Given the description of an element on the screen output the (x, y) to click on. 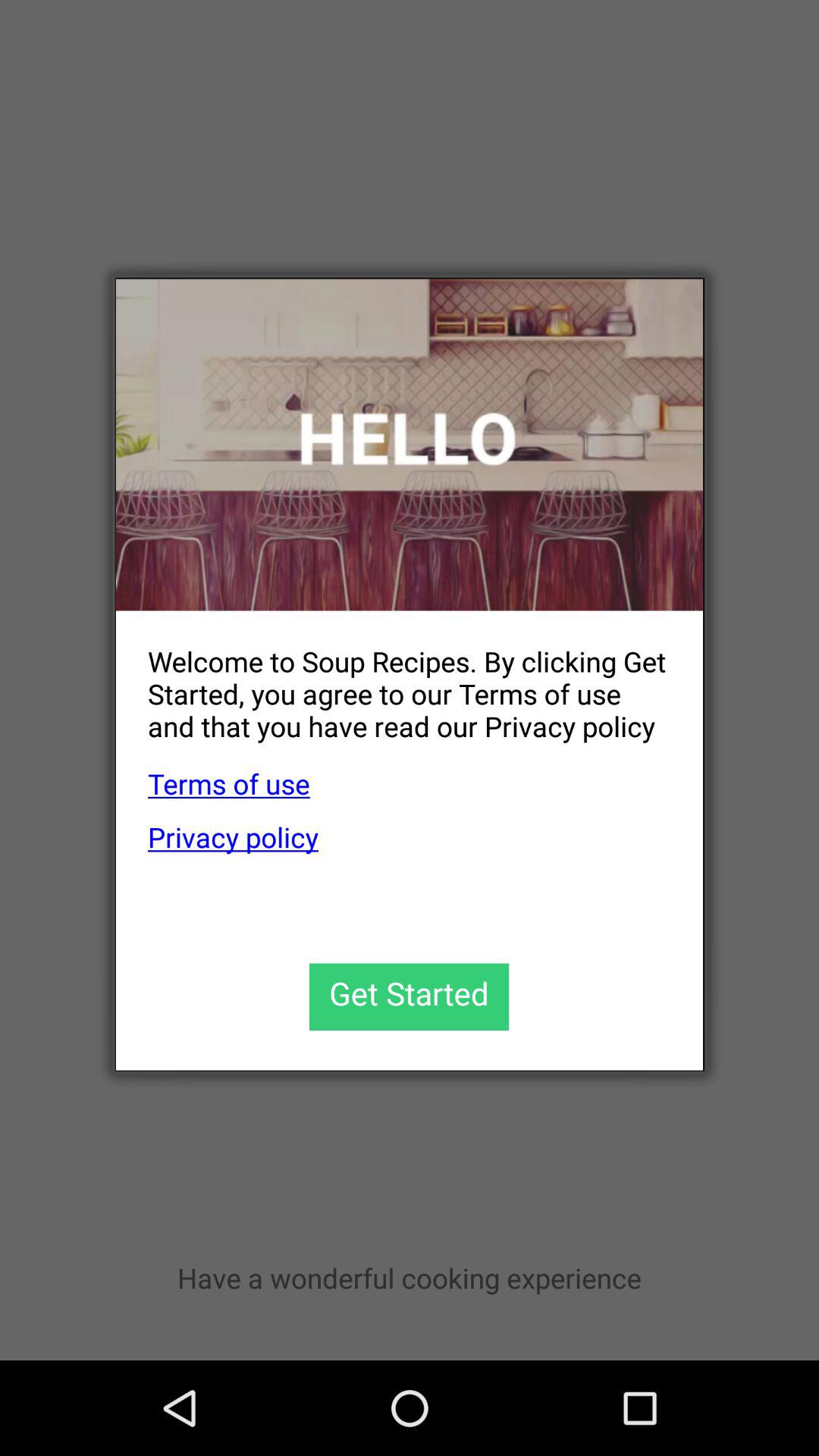
select item above the welcome to soup (409, 444)
